Given the description of an element on the screen output the (x, y) to click on. 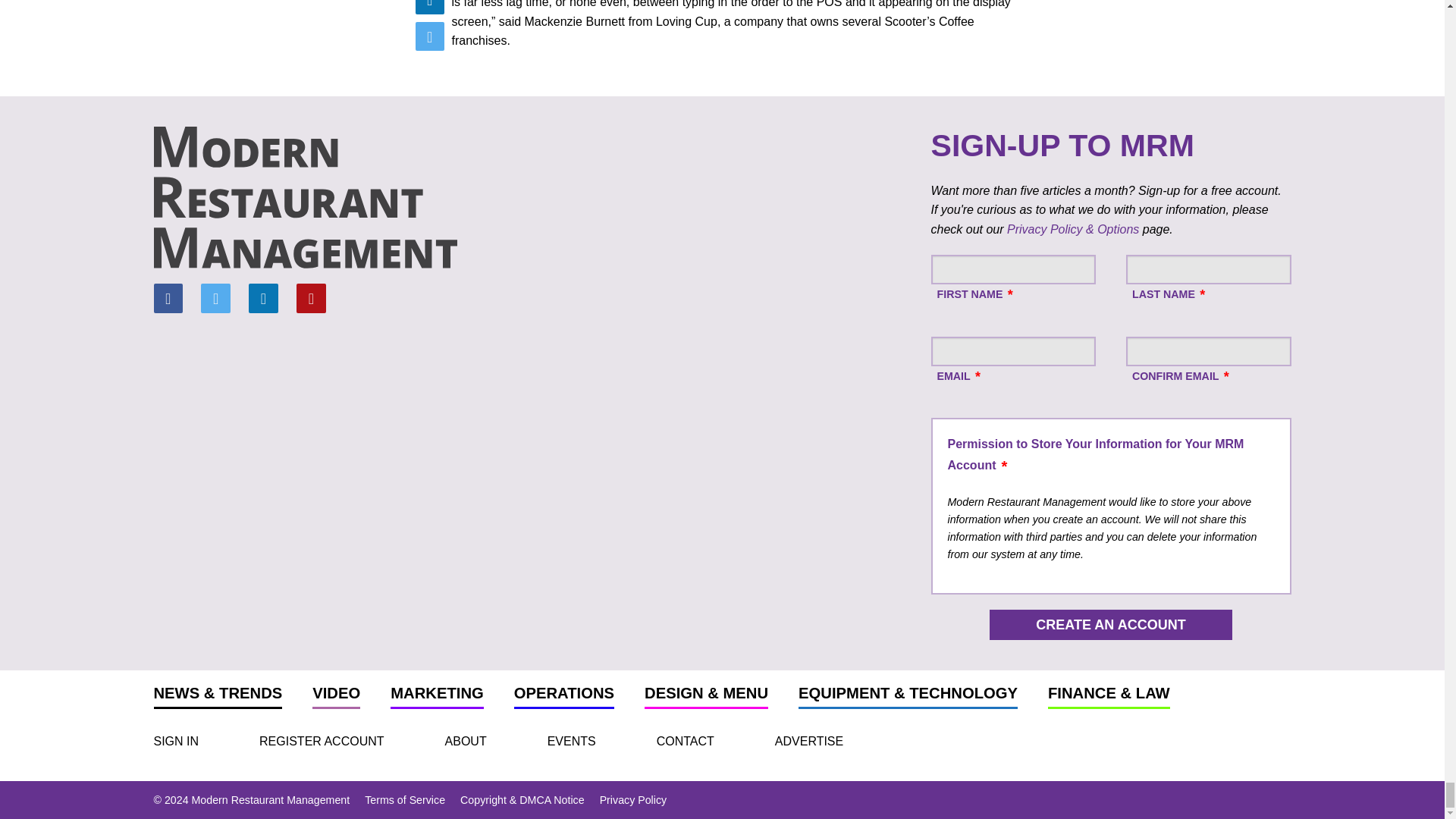
MARKETING (436, 696)
SIGN IN (175, 740)
Youtube (310, 297)
Linkedin (263, 297)
Facebook (167, 297)
VIDEO (336, 696)
Twitter (215, 297)
Create an Account (1110, 624)
REGISTER ACCOUNT (321, 740)
Create an Account (1110, 624)
OPERATIONS (563, 696)
